Given the description of an element on the screen output the (x, y) to click on. 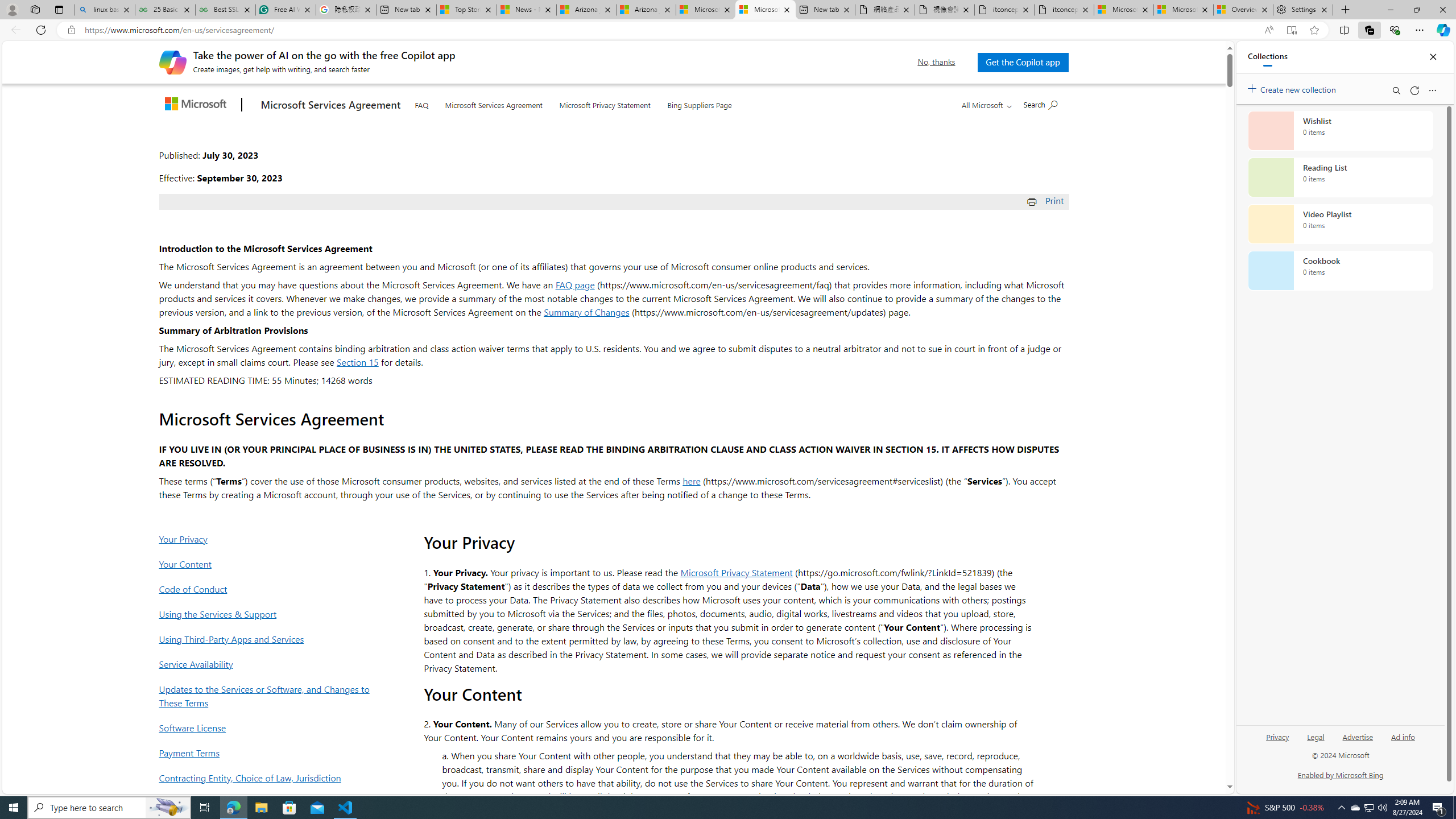
Contracting Entity, Choice of Law, Jurisdiction (267, 777)
No, thanks (936, 62)
Payment Terms (267, 752)
FAQ (421, 103)
Create images, get help with writing, and search faster (172, 62)
Your Content (267, 563)
Reading List collection, 0 items (1339, 177)
